Given the description of an element on the screen output the (x, y) to click on. 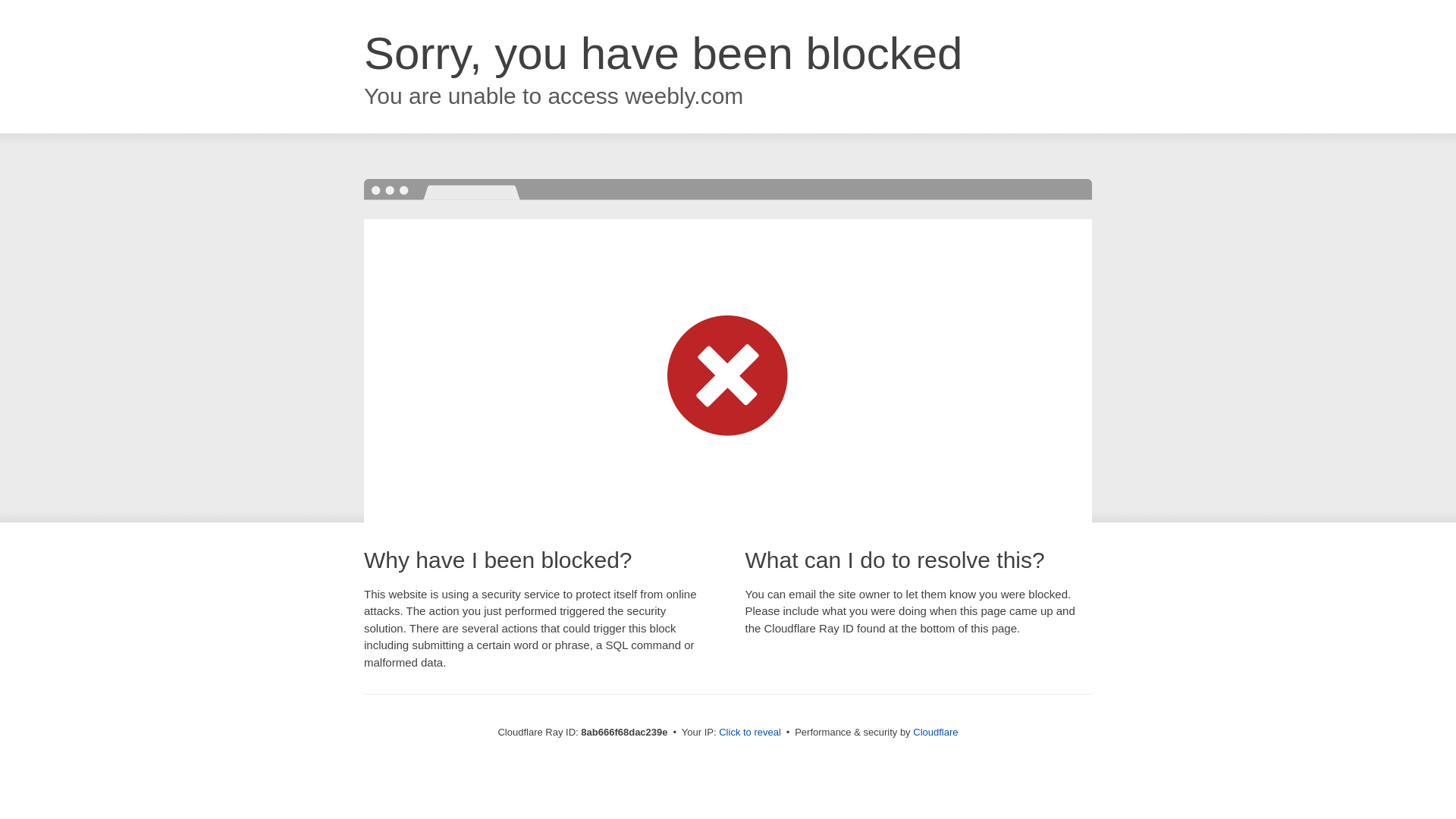
Cloudflare (935, 731)
Click to reveal (749, 732)
